Given the description of an element on the screen output the (x, y) to click on. 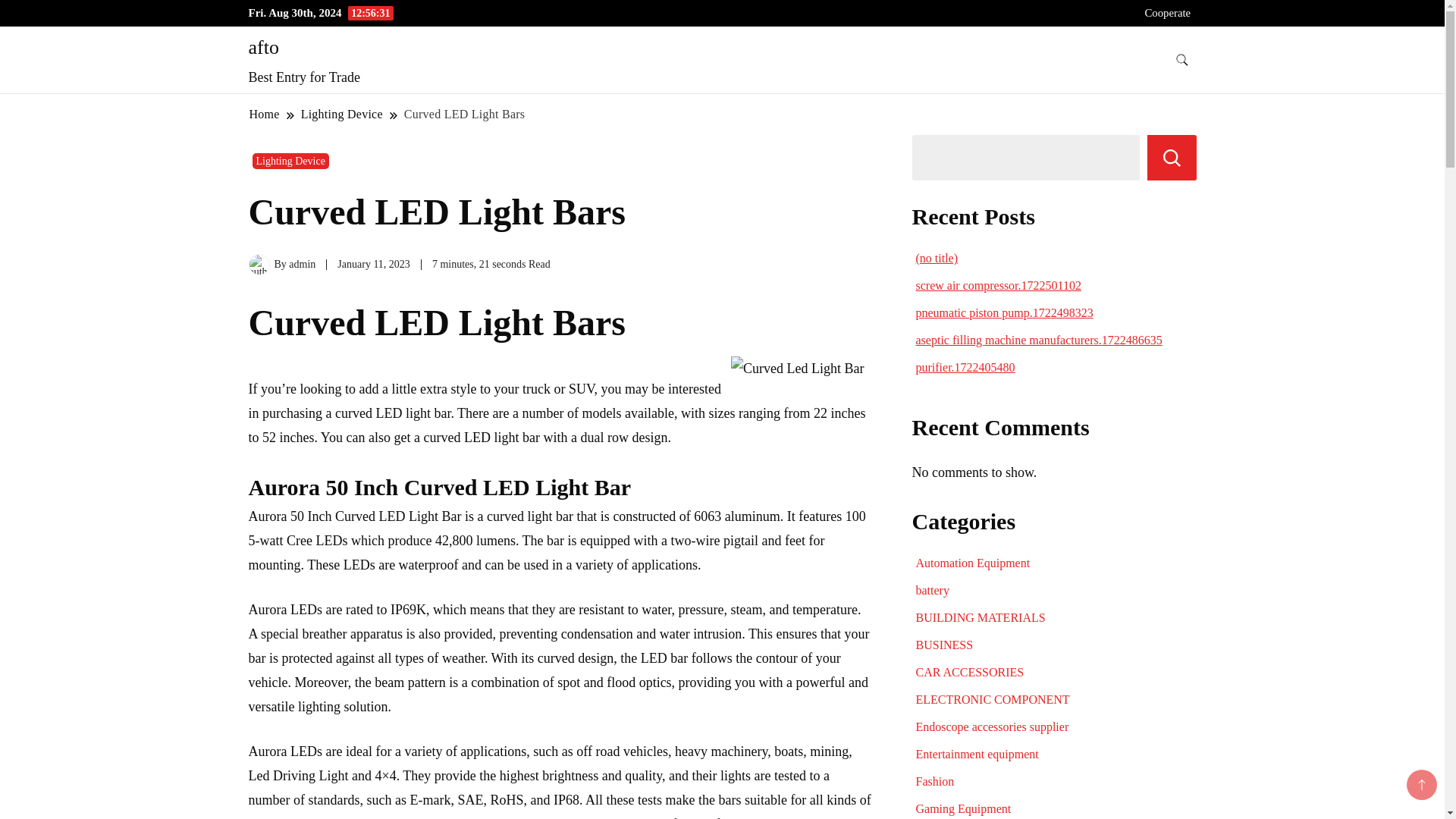
Search (1171, 157)
BUSINESS (944, 644)
admin (301, 264)
screw air compressor.1722501102 (998, 285)
Home (264, 114)
battery (932, 590)
January 11, 2023 (373, 264)
Automation Equipment (972, 562)
aseptic filling machine manufacturers.1722486635 (1038, 339)
Curved LED Light Bars (464, 114)
